Given the description of an element on the screen output the (x, y) to click on. 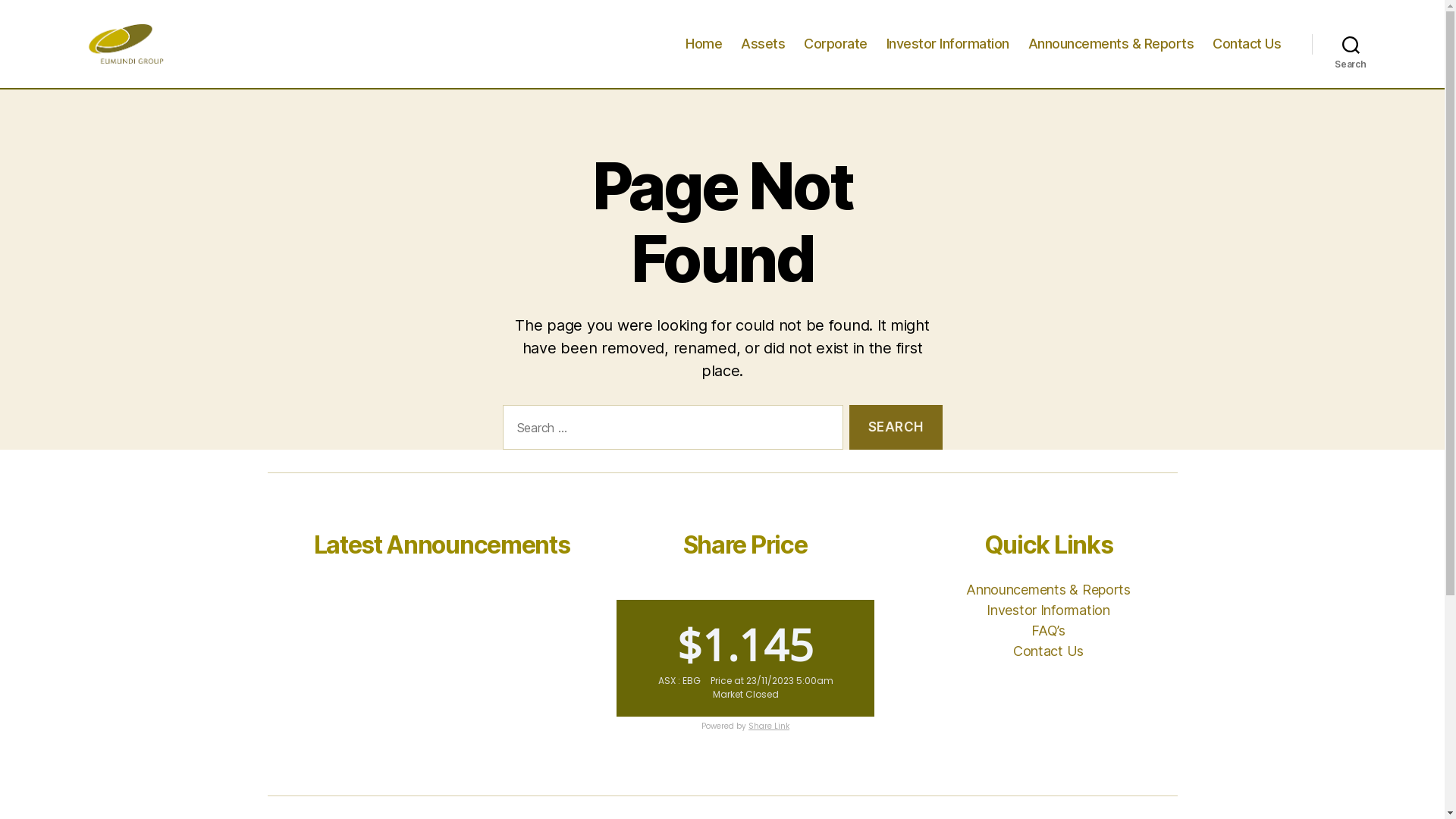
Assets Element type: text (762, 43)
Investor Information Element type: text (1048, 610)
Home Element type: text (703, 43)
Corporate Element type: text (835, 43)
Contact Us Element type: text (1048, 650)
Contact Us Element type: text (1246, 43)
Announcements & Reports Element type: text (1048, 589)
Search Element type: text (895, 426)
Announcements & Reports Element type: text (1111, 43)
Search Element type: text (1350, 43)
Investor Information Element type: text (947, 43)
